Given the description of an element on the screen output the (x, y) to click on. 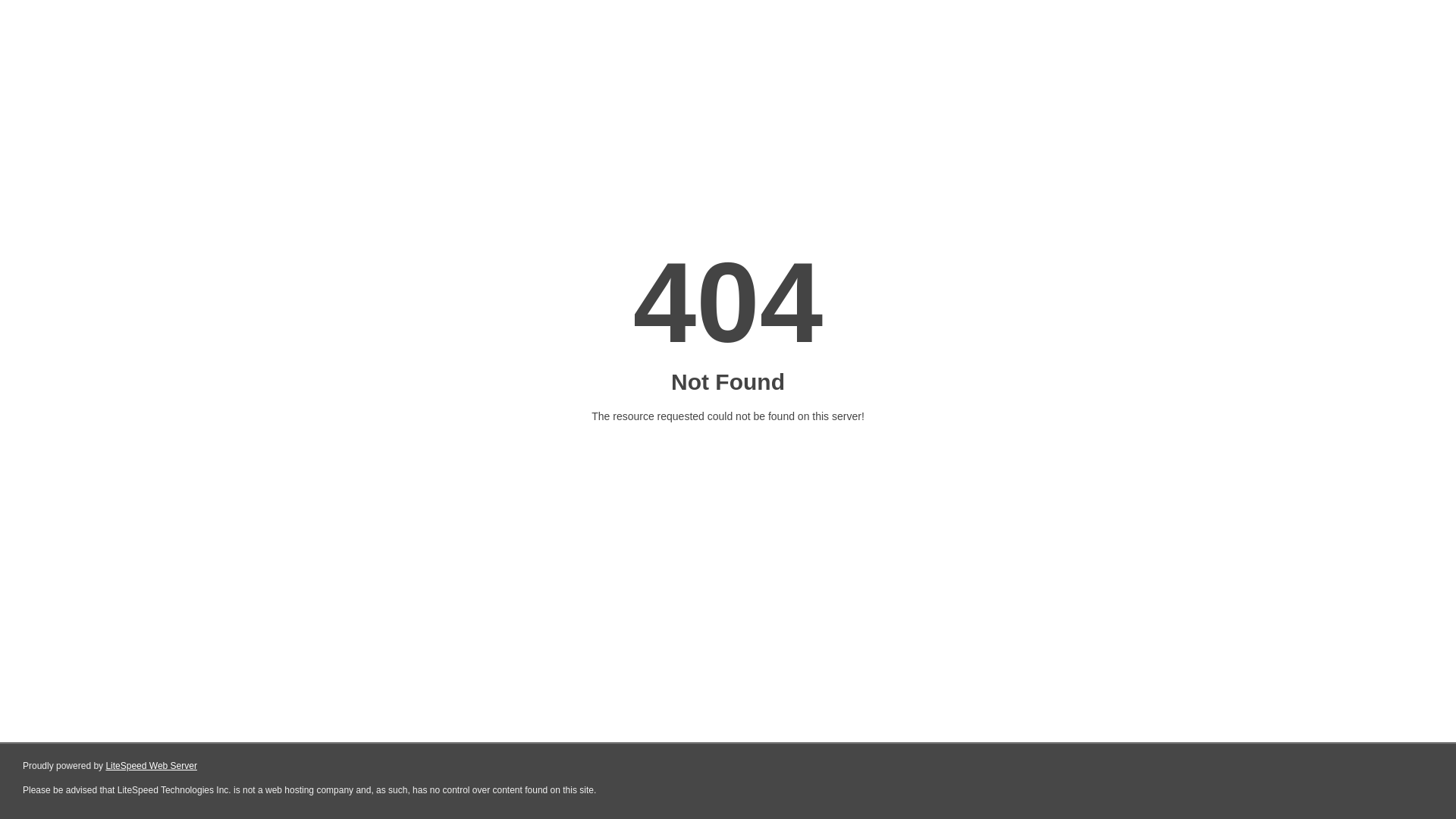
LiteSpeed Web Server Element type: text (151, 765)
